Given the description of an element on the screen output the (x, y) to click on. 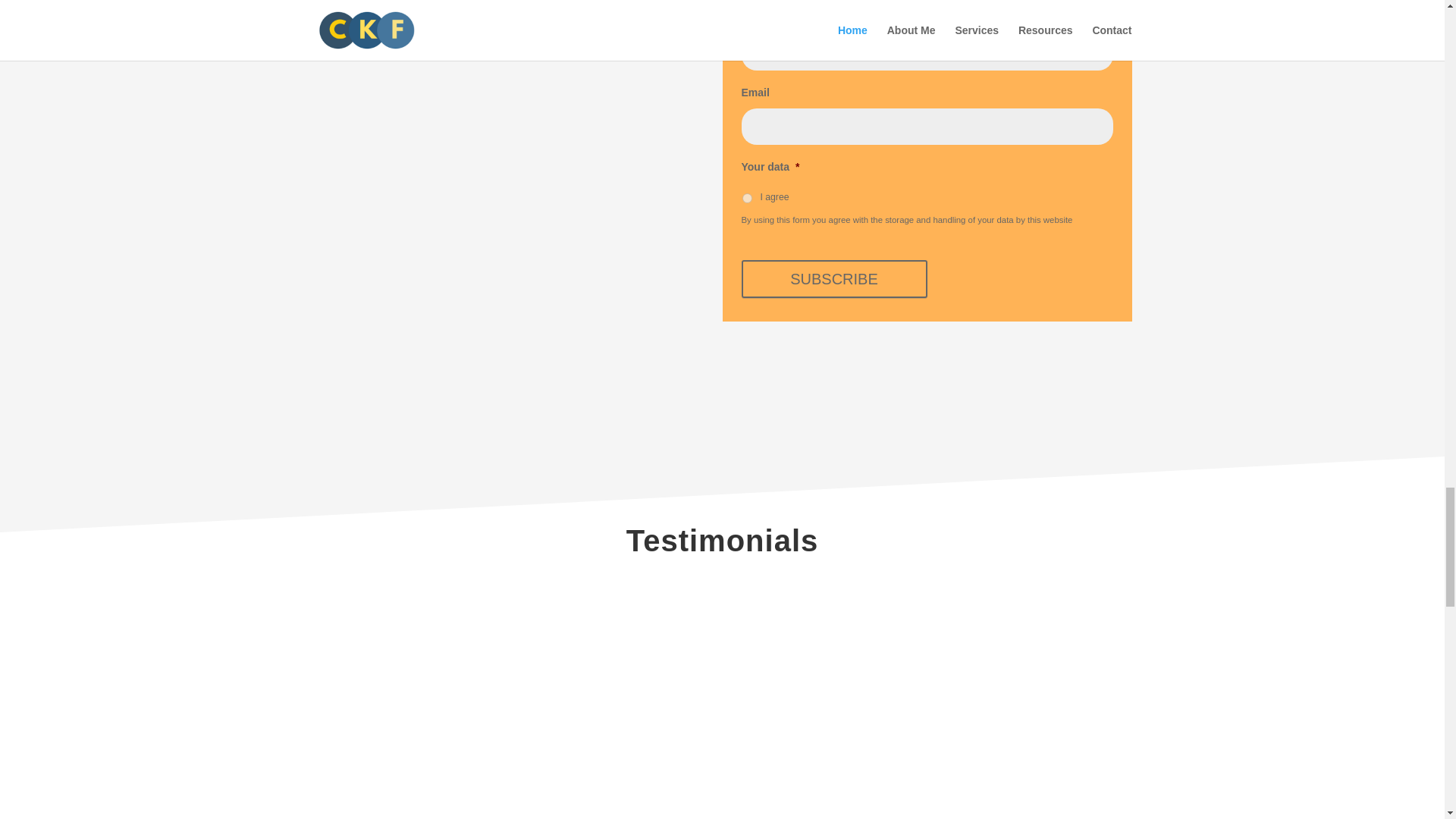
SUBSCRIBE (834, 279)
SUBSCRIBE (834, 279)
I agree (746, 198)
